Given the description of an element on the screen output the (x, y) to click on. 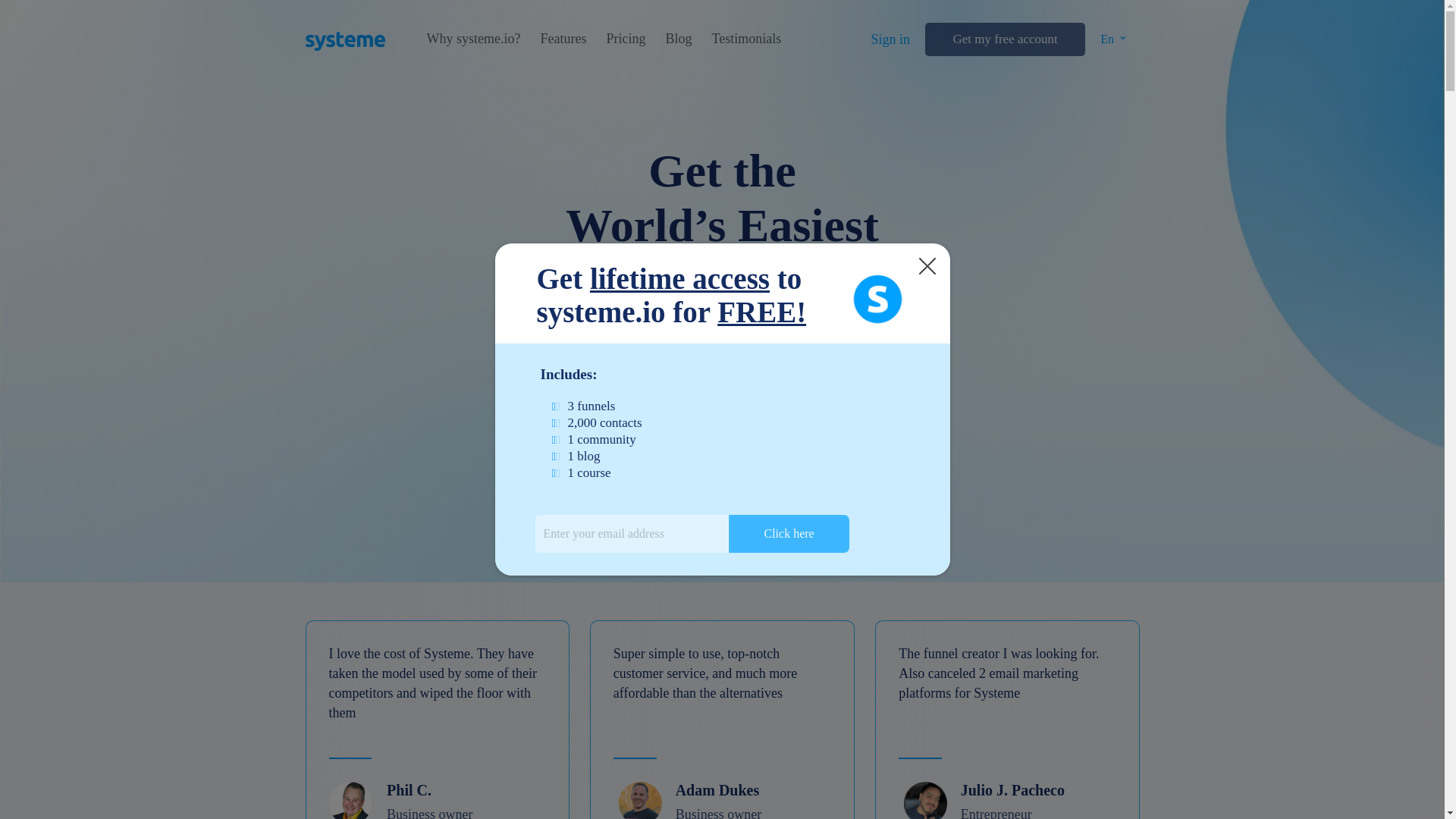
Sign in (890, 39)
Features (563, 38)
Pricing (625, 38)
Why systeme.io? (472, 38)
Testimonials (745, 38)
Get my free account (1004, 39)
Blog (678, 38)
